Given the description of an element on the screen output the (x, y) to click on. 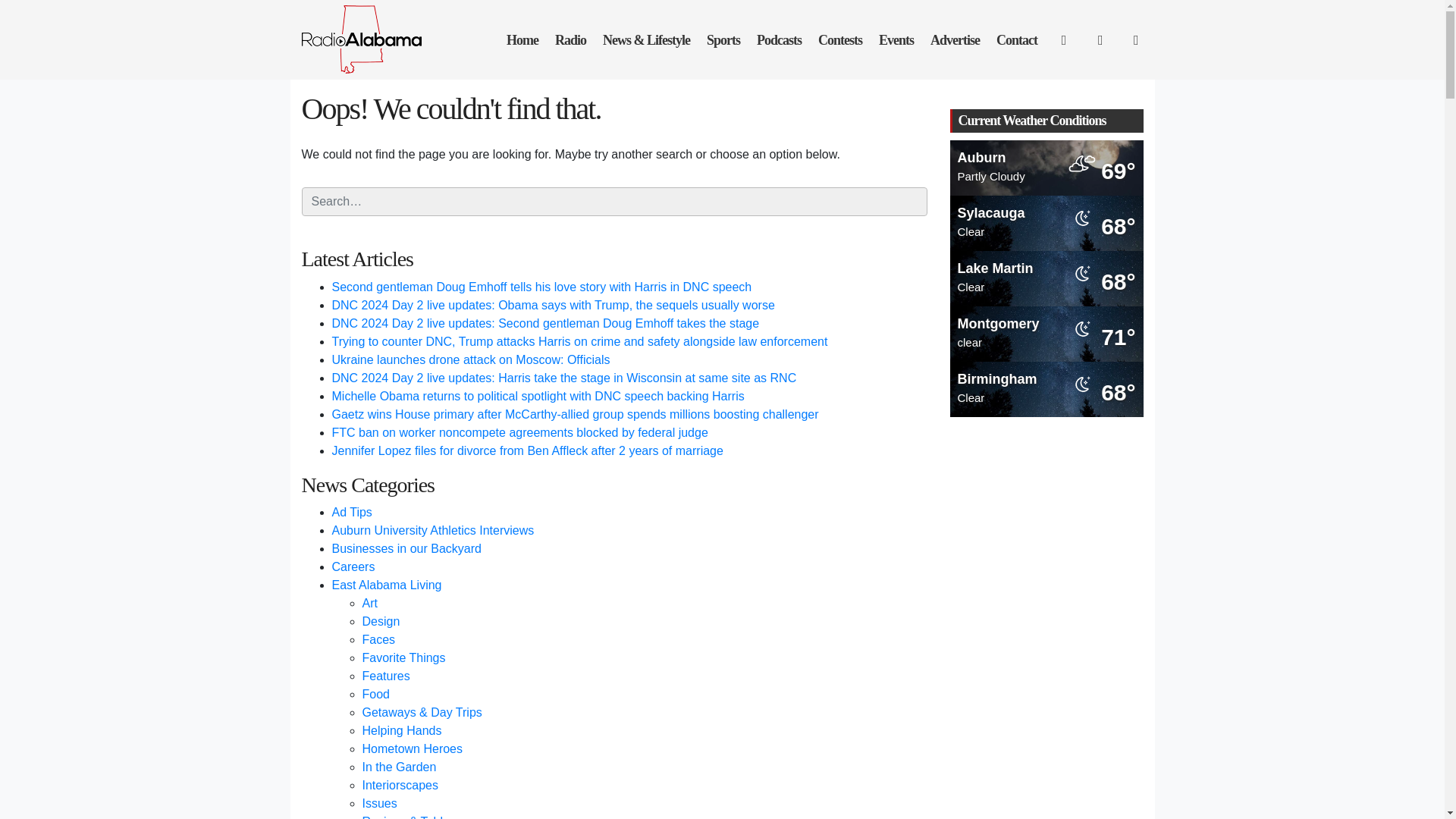
RadioAlabama (372, 38)
